Given the description of an element on the screen output the (x, y) to click on. 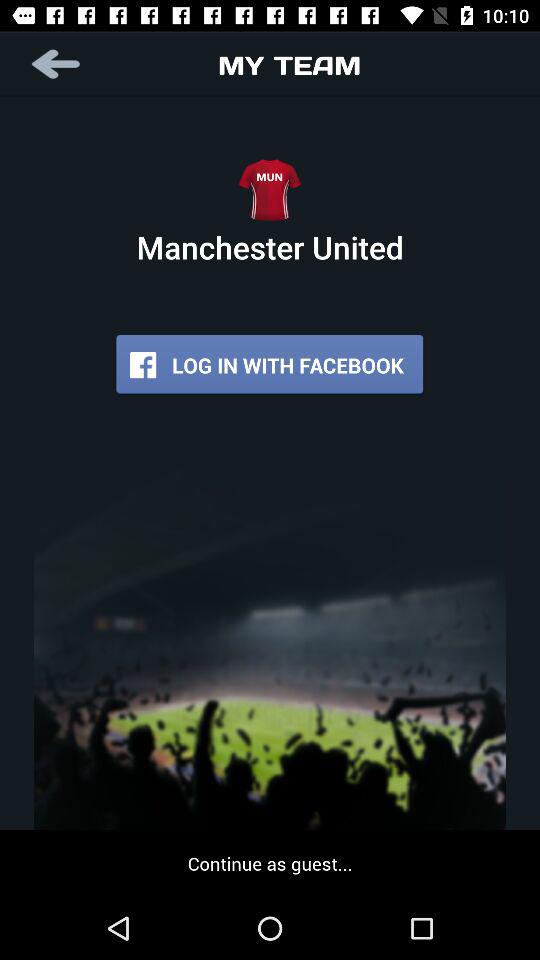
turn off the item to the left of my team item (57, 63)
